Given the description of an element on the screen output the (x, y) to click on. 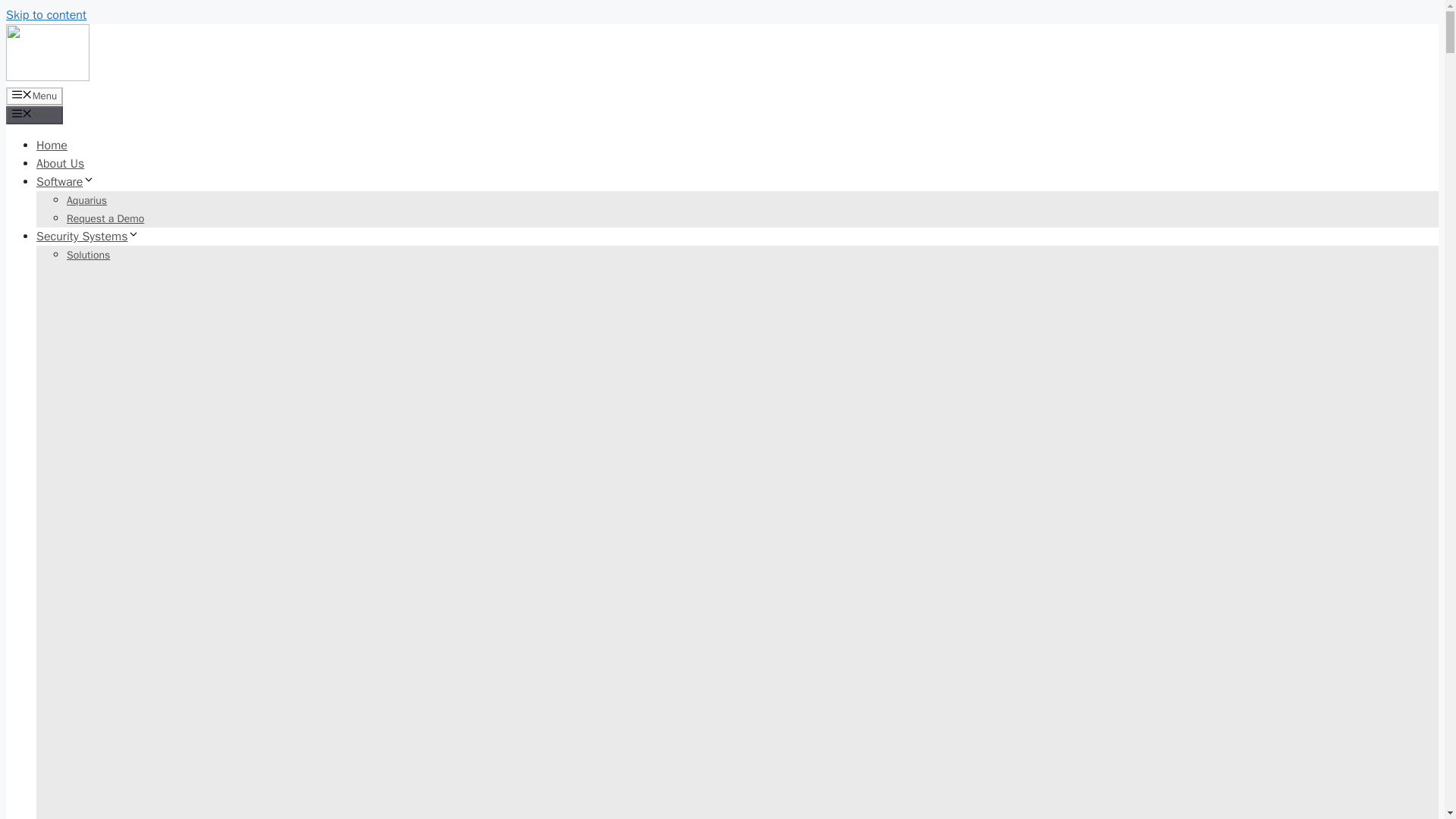
Aquarius (86, 200)
Home (51, 145)
Software (65, 181)
Menu (33, 115)
Security Systems (87, 236)
Skip to content (45, 14)
Skip to content (45, 14)
Menu (33, 95)
About Us (60, 163)
Request a Demo (105, 218)
